Given the description of an element on the screen output the (x, y) to click on. 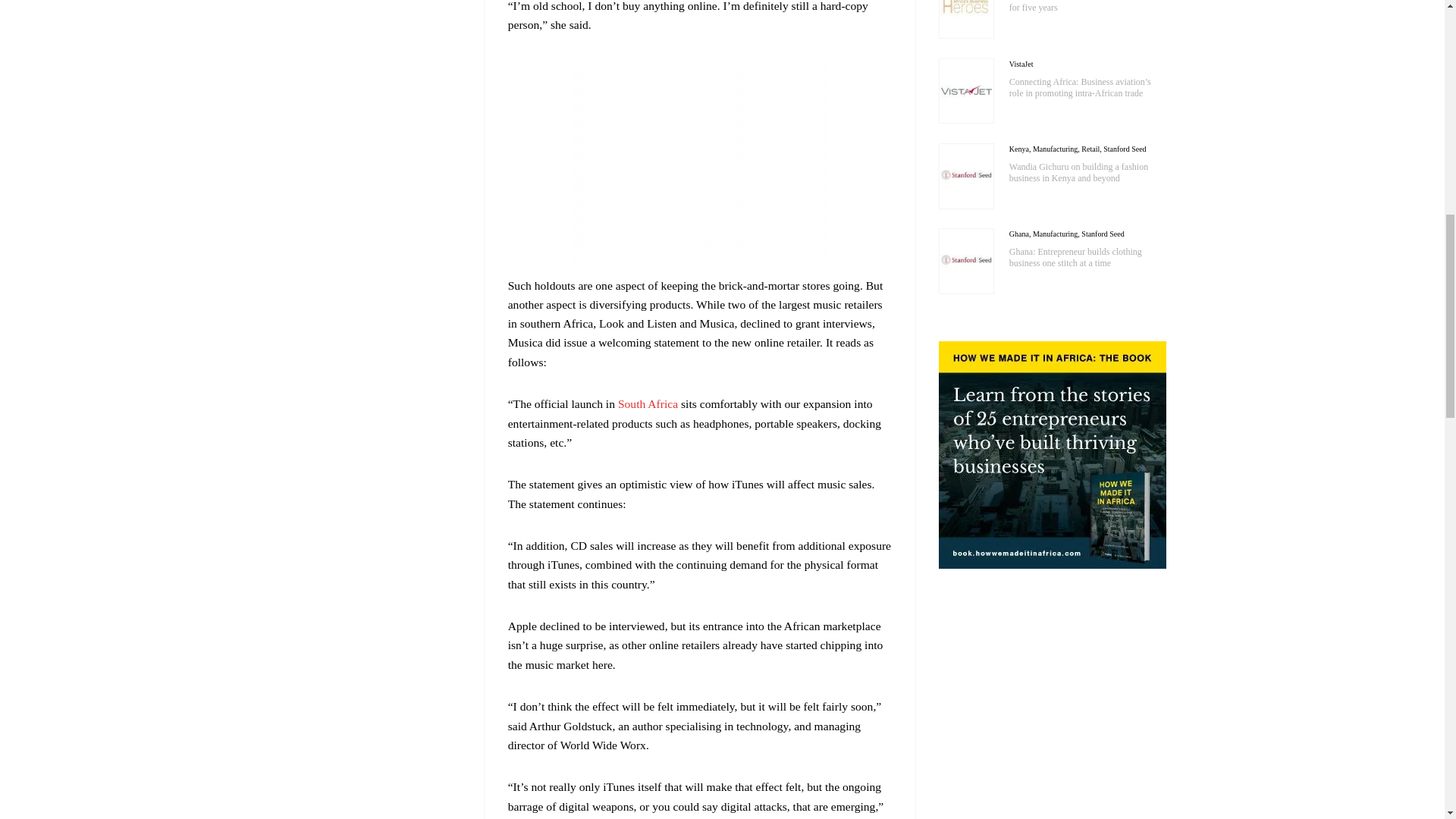
South Africa (647, 403)
3rd party ad content (699, 163)
